Given the description of an element on the screen output the (x, y) to click on. 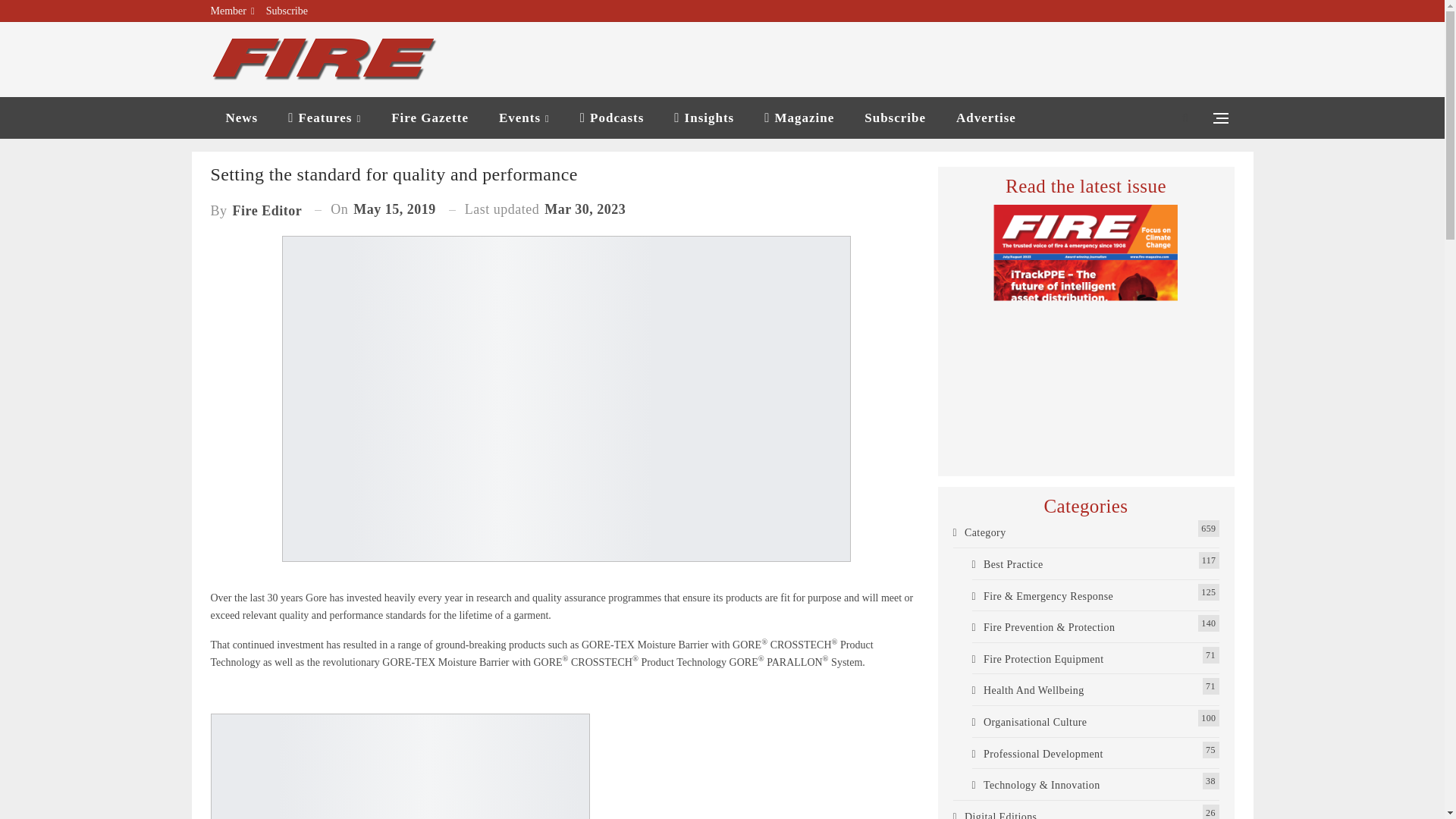
Fire Gazette (429, 117)
Browse Author Articles (256, 209)
News (242, 117)
Subscribe (286, 10)
Events (523, 117)
Member (232, 10)
Features (324, 117)
